Given the description of an element on the screen output the (x, y) to click on. 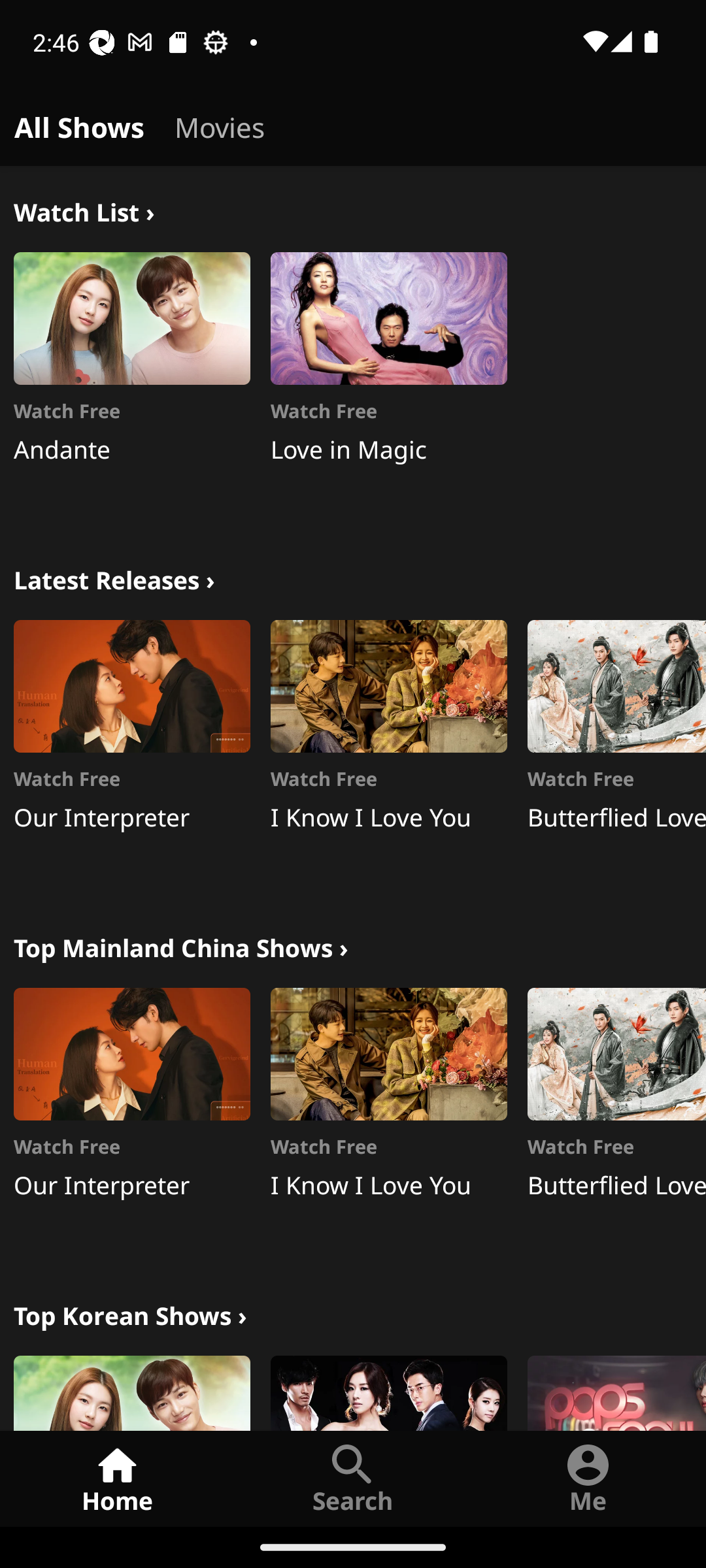
home_tab_movies Movies (219, 124)
Watch List › watch_list (84, 210)
Latest Releases › all_new (114, 577)
Top Mainland China Shows › china_trending (180, 946)
Top Korean Shows › korean_trending (130, 1313)
Search (352, 1478)
Me (588, 1478)
